Given the description of an element on the screen output the (x, y) to click on. 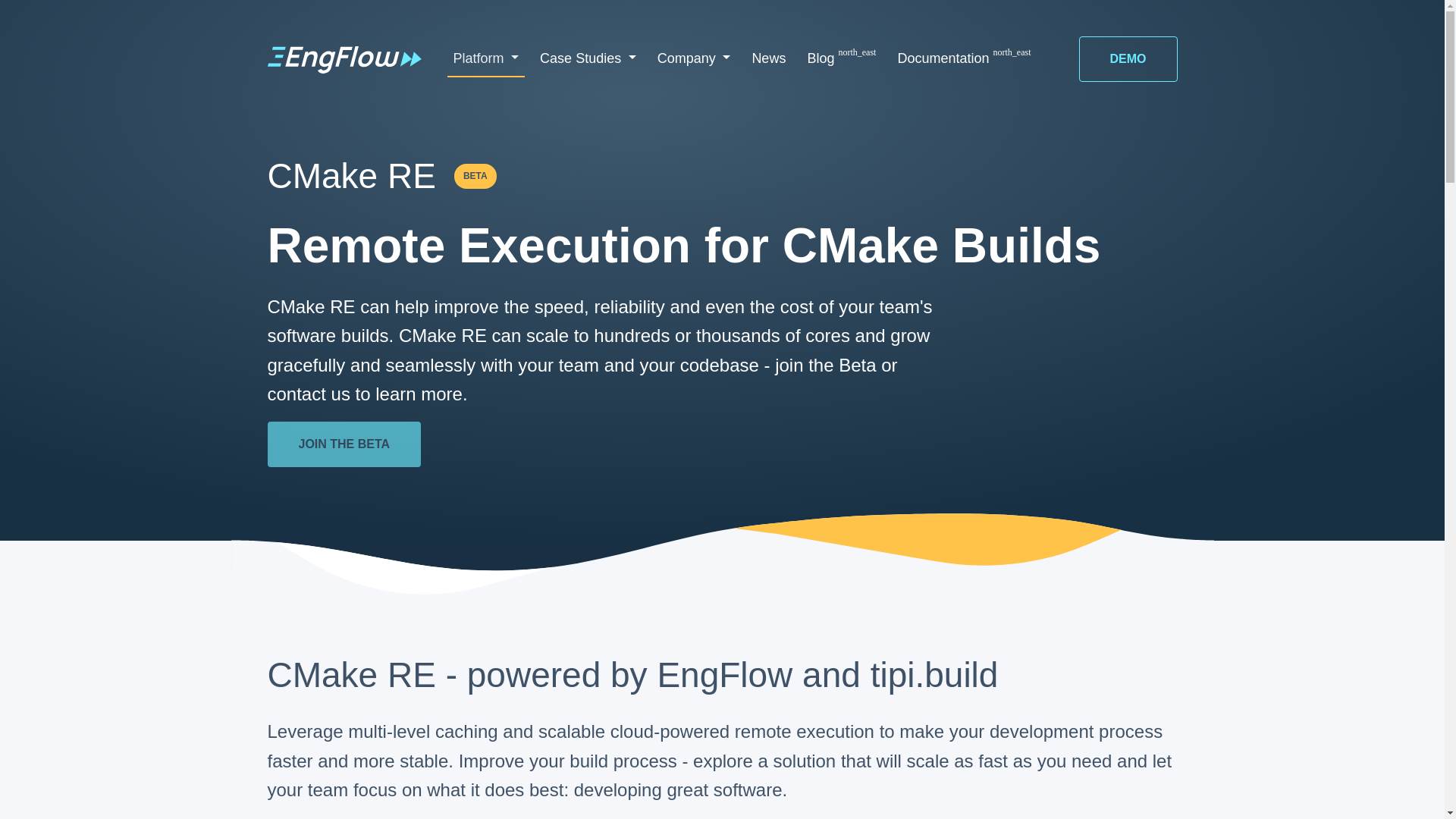
Blog (841, 58)
News (768, 58)
DEMO (1127, 58)
EngFlow (344, 59)
Platform (485, 58)
Company (693, 58)
Case Studies (588, 58)
Documentation (963, 58)
